Given the description of an element on the screen output the (x, y) to click on. 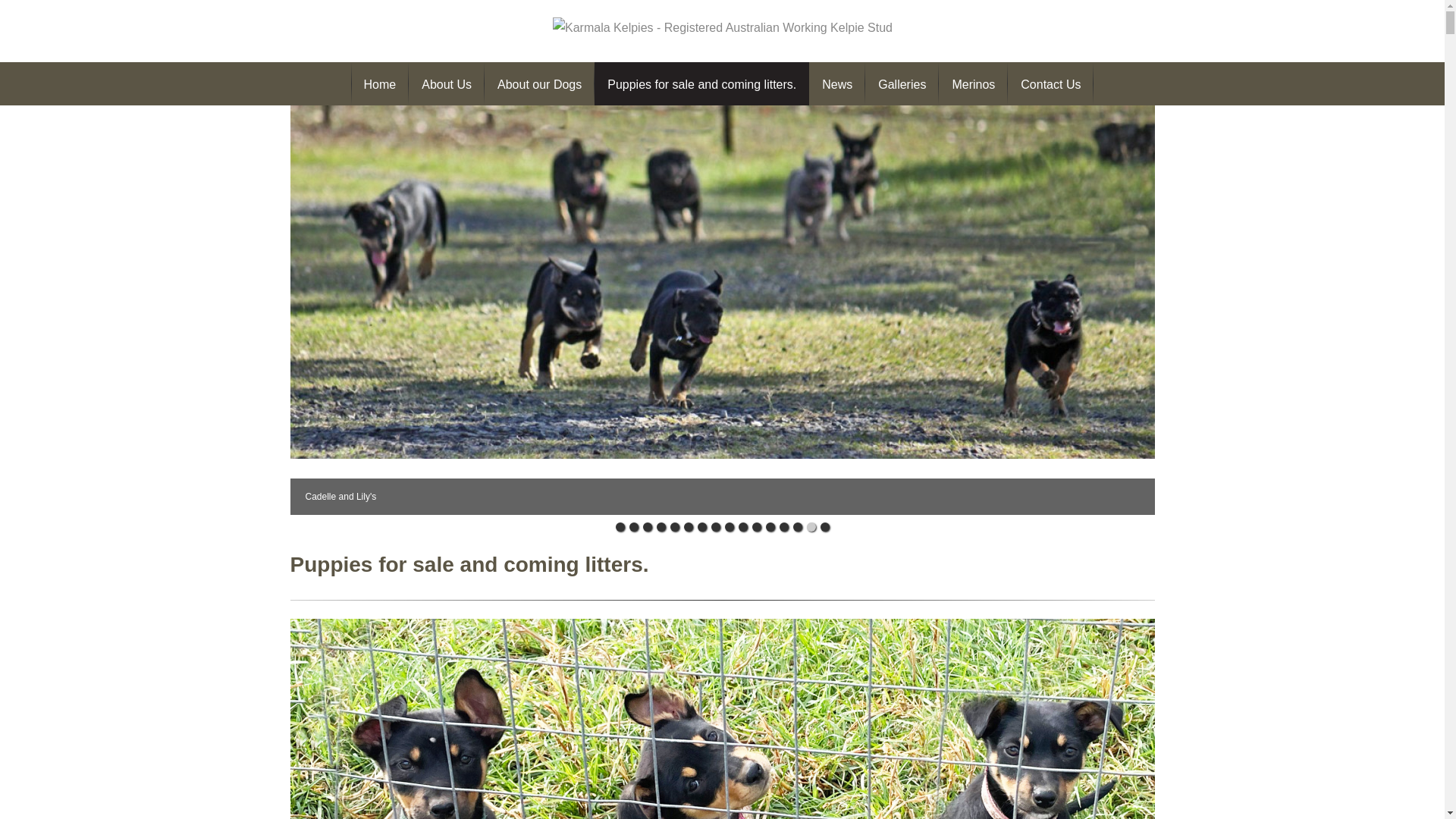
Contact Us Element type: text (1050, 83)
Galleries Element type: text (901, 83)
About Us Element type: text (446, 83)
About our Dogs Element type: text (539, 83)
Merinos Element type: text (972, 83)
Puppies for sale and coming litters. Element type: text (701, 83)
News Element type: text (837, 83)
Home Element type: text (380, 83)
